Given the description of an element on the screen output the (x, y) to click on. 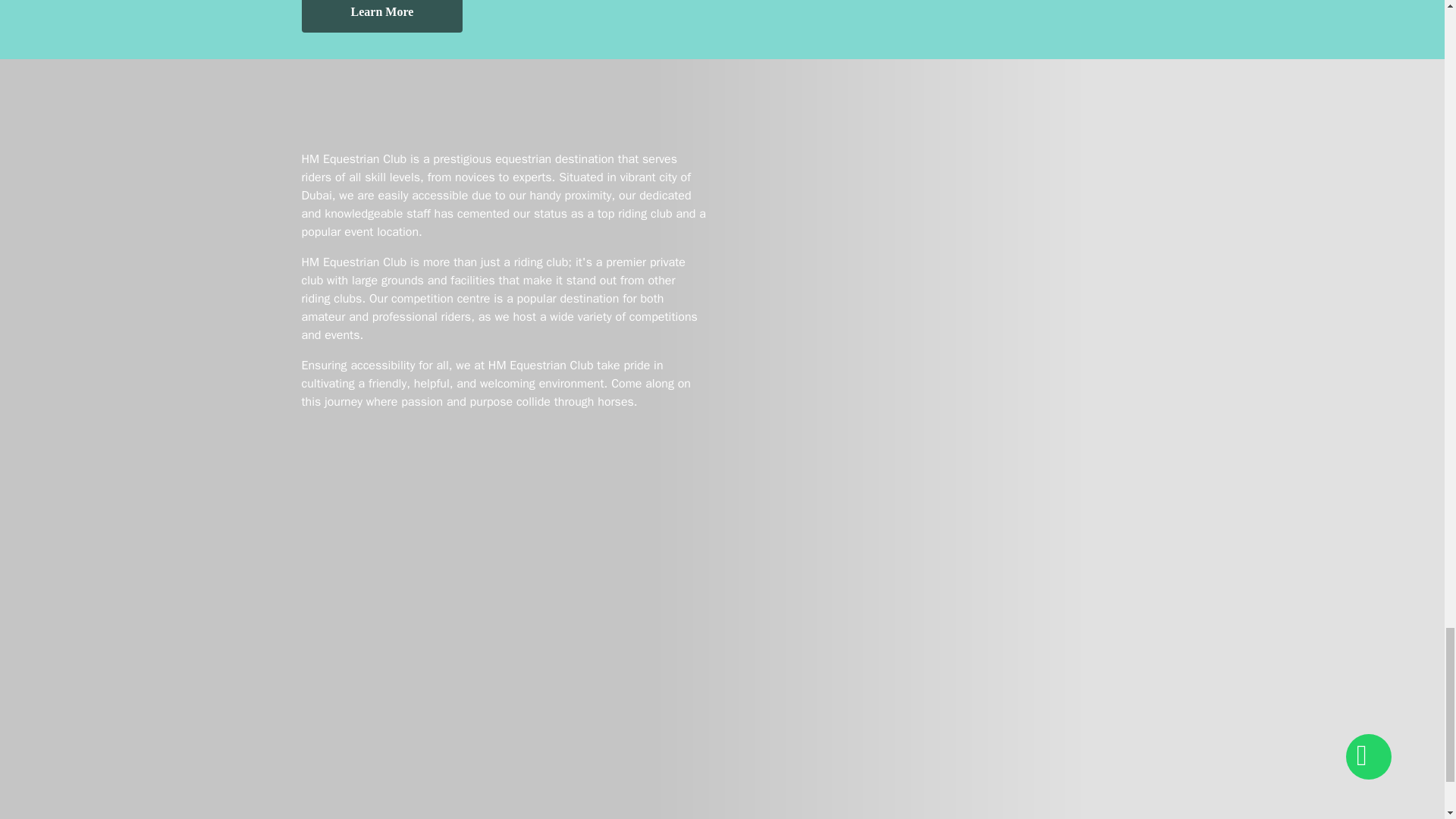
Learn More (382, 16)
